Given the description of an element on the screen output the (x, y) to click on. 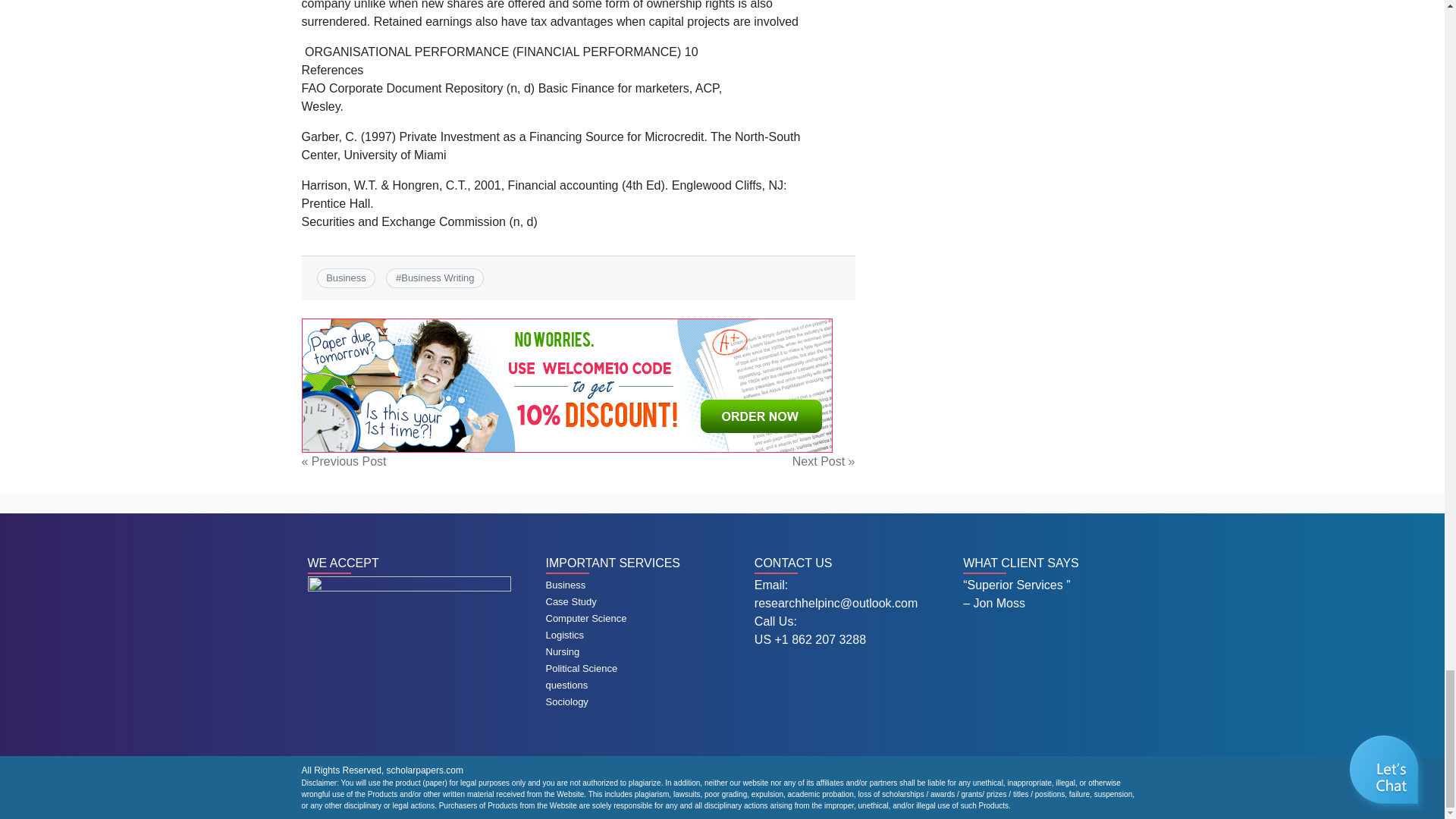
Business Writing (437, 277)
Sociology (567, 701)
Logistics (565, 634)
Business (566, 584)
Computer Science (586, 618)
Case Study (571, 601)
Business (346, 277)
Political Science (581, 668)
questions (567, 685)
Nursing (562, 651)
